Given the description of an element on the screen output the (x, y) to click on. 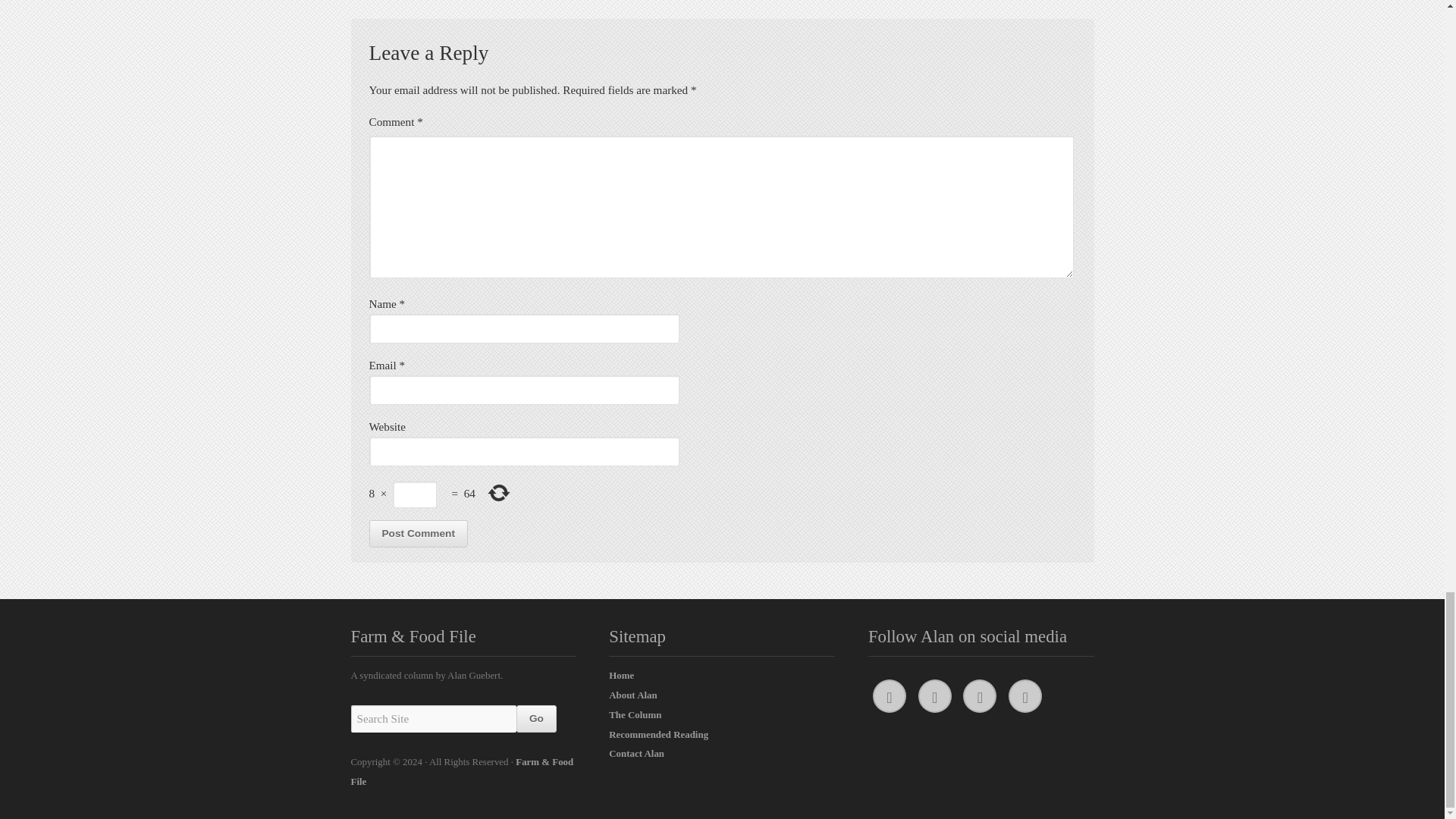
The Column (634, 714)
Post Comment (417, 533)
Search Site (432, 718)
Home (620, 675)
Go (536, 718)
Go (536, 718)
Contact Alan (635, 753)
Post Comment (417, 533)
Recommended Reading (657, 734)
About Alan (632, 695)
